Given the description of an element on the screen output the (x, y) to click on. 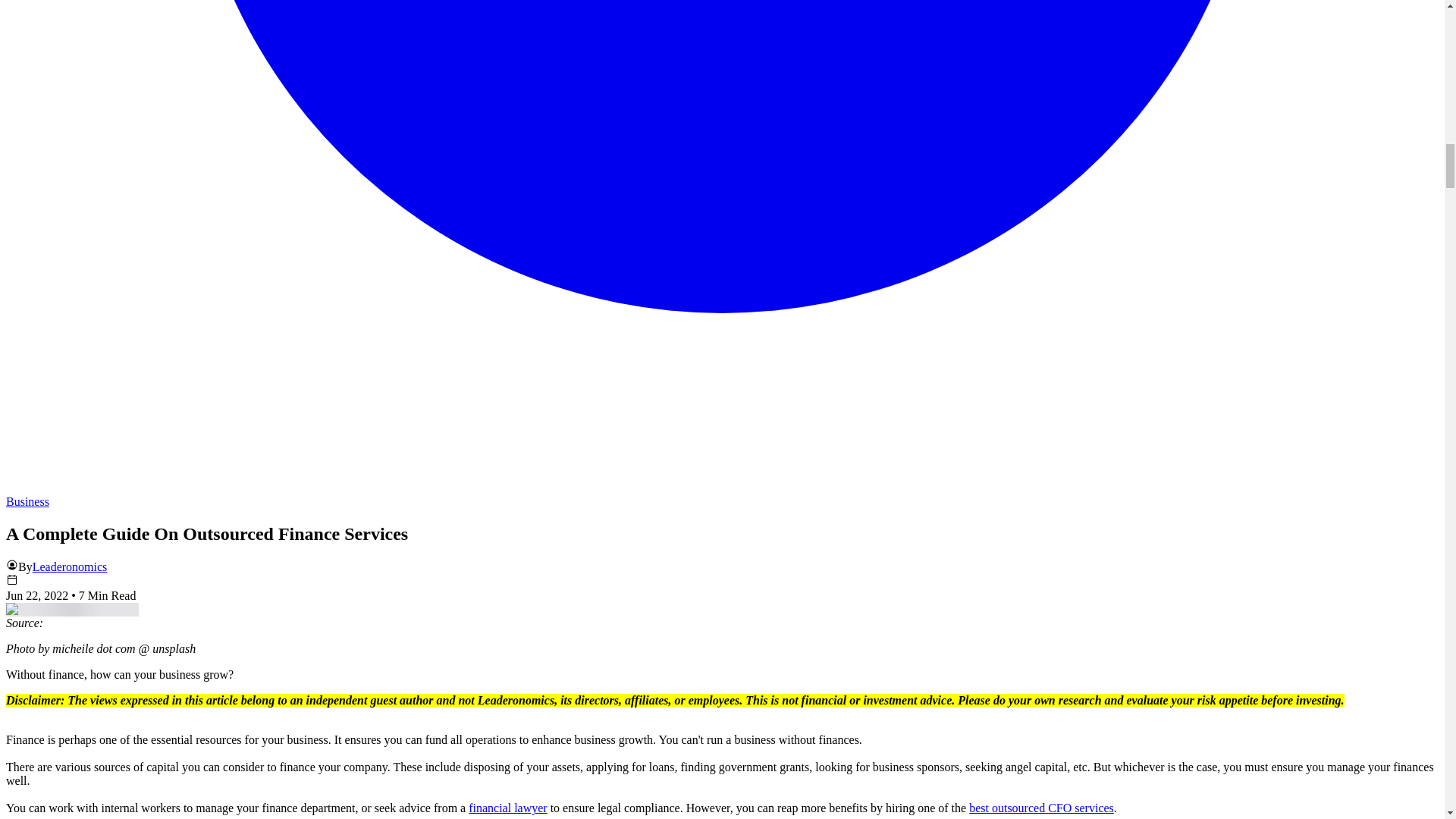
Leaderonomics (69, 566)
best outsourced CFO services (1041, 807)
financial lawyer (507, 807)
